Given the description of an element on the screen output the (x, y) to click on. 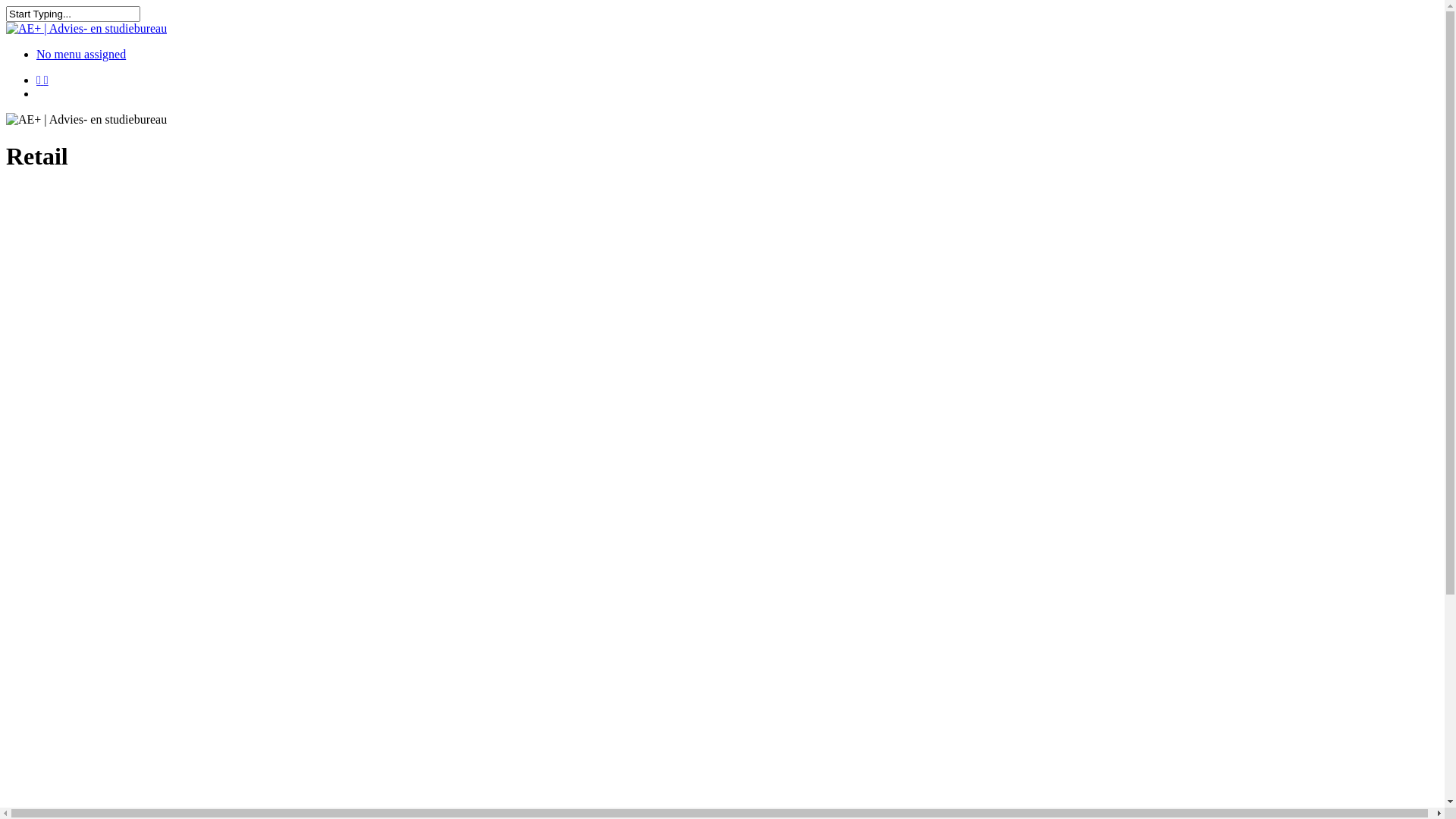
No menu assigned Element type: text (80, 53)
